Given the description of an element on the screen output the (x, y) to click on. 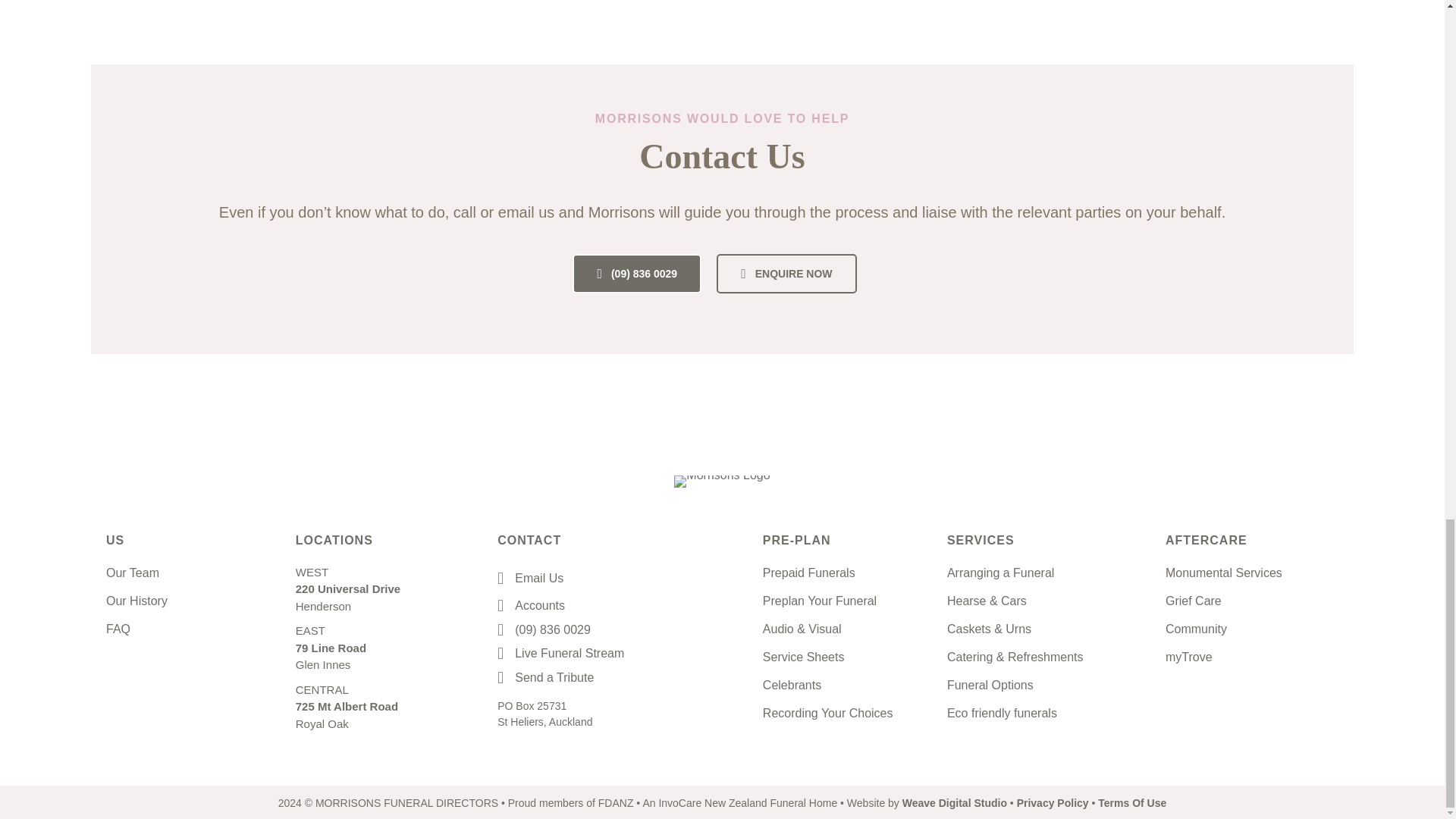
ENQUIRE NOW (786, 273)
Morrisons Logo (722, 481)
Page 1 (553, 629)
